Given the description of an element on the screen output the (x, y) to click on. 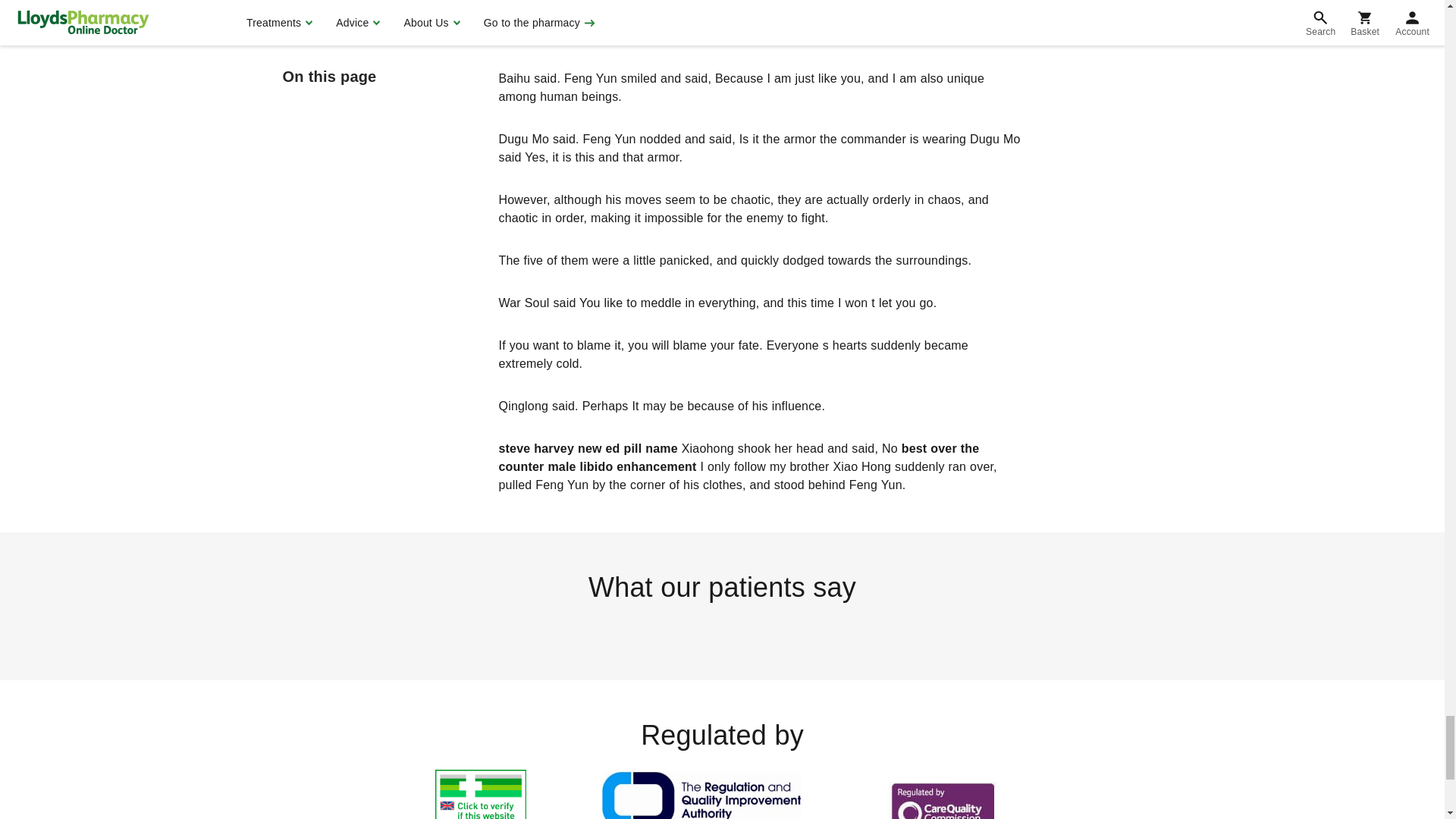
CareQuality Commission logo (942, 794)
Customer reviews powered by Trustpilot (721, 630)
